Given the description of an element on the screen output the (x, y) to click on. 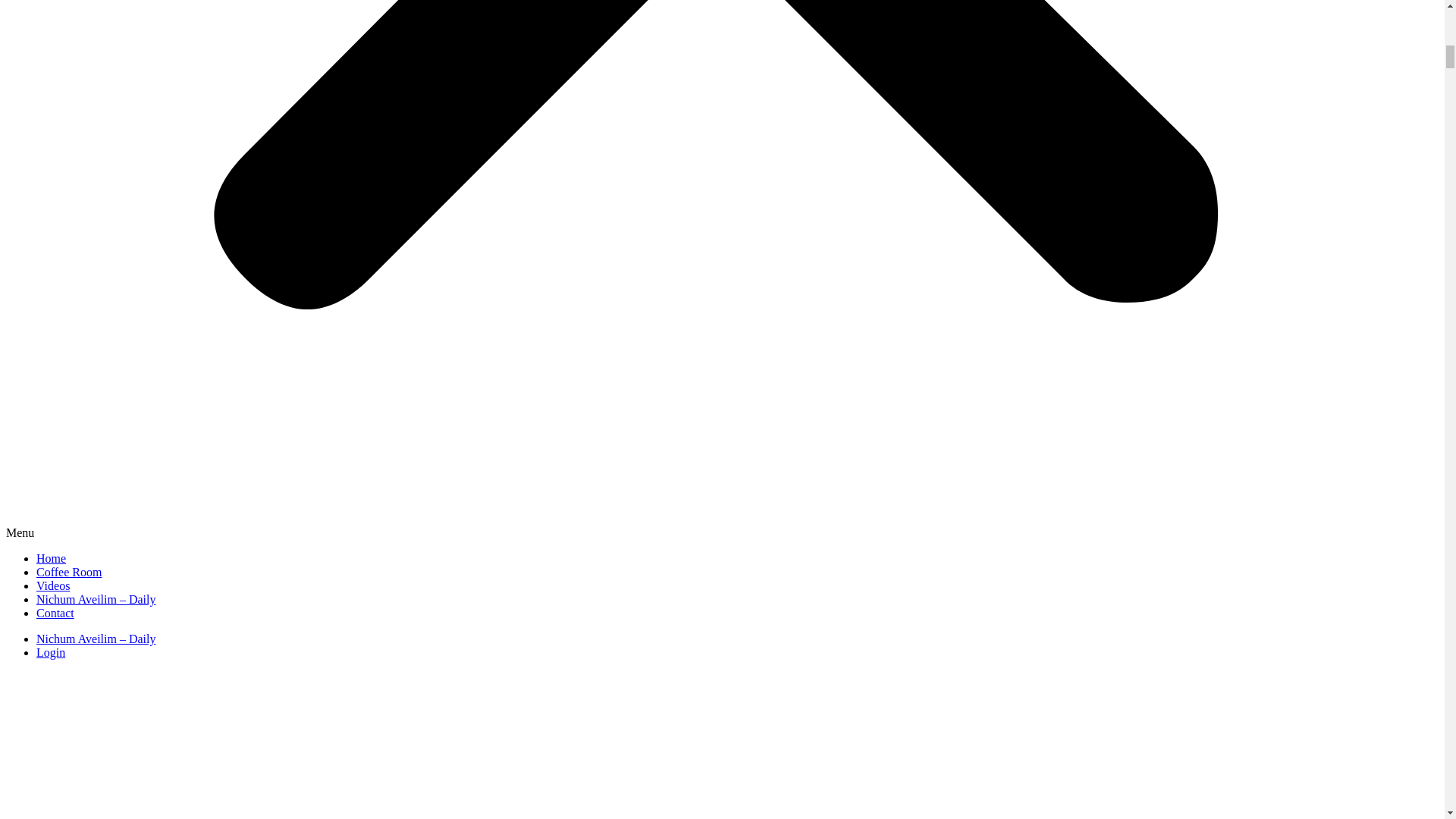
Home (50, 558)
Contact (55, 612)
Login (50, 652)
Videos (52, 585)
Coffee Room (68, 571)
